Given the description of an element on the screen output the (x, y) to click on. 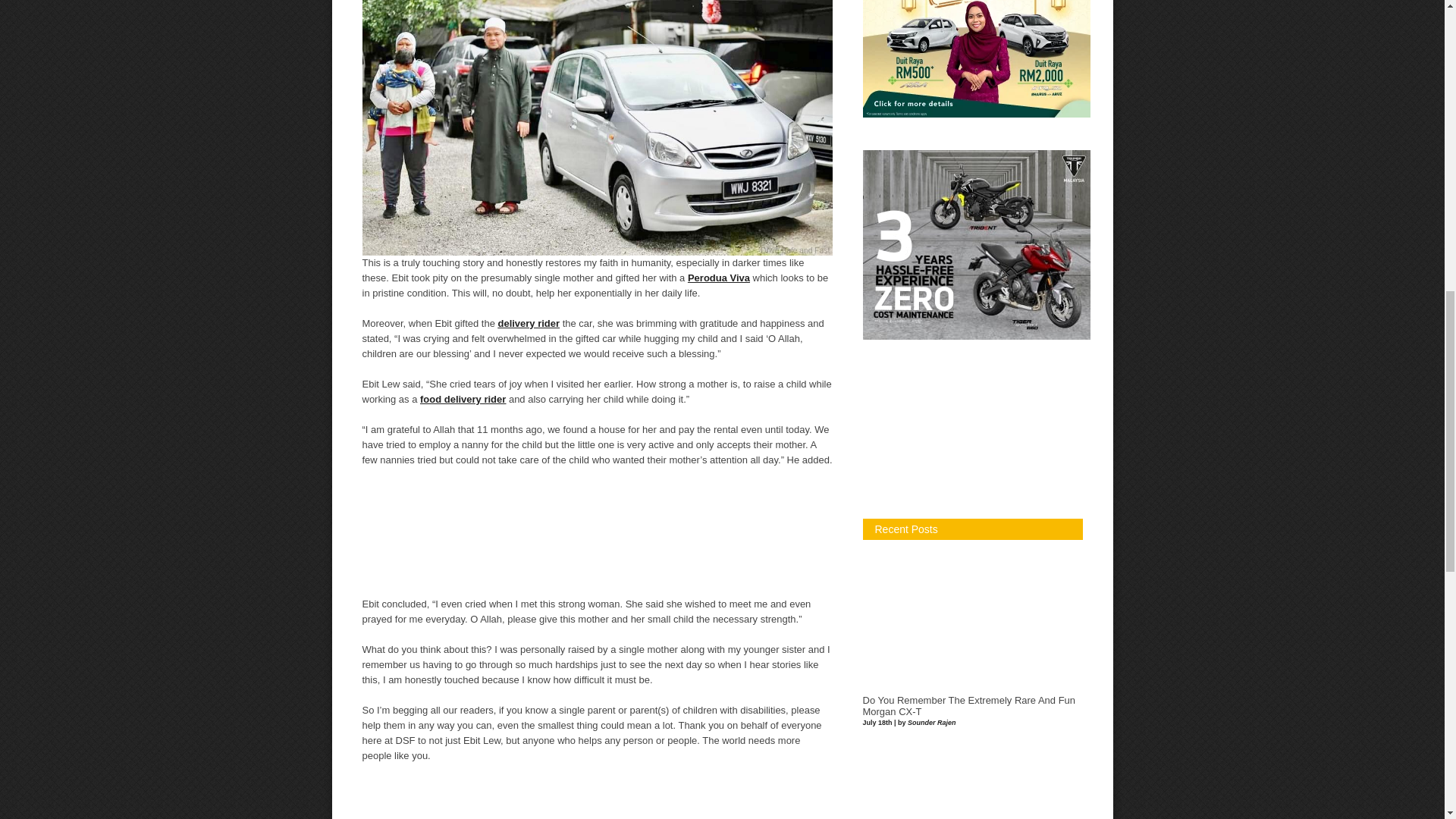
food delivery rider (462, 398)
Perodua Viva (718, 277)
Do You Remember The Extremely Rare And Fun Morgan CX-T  (969, 706)
delivery rider (528, 323)
